Given the description of an element on the screen output the (x, y) to click on. 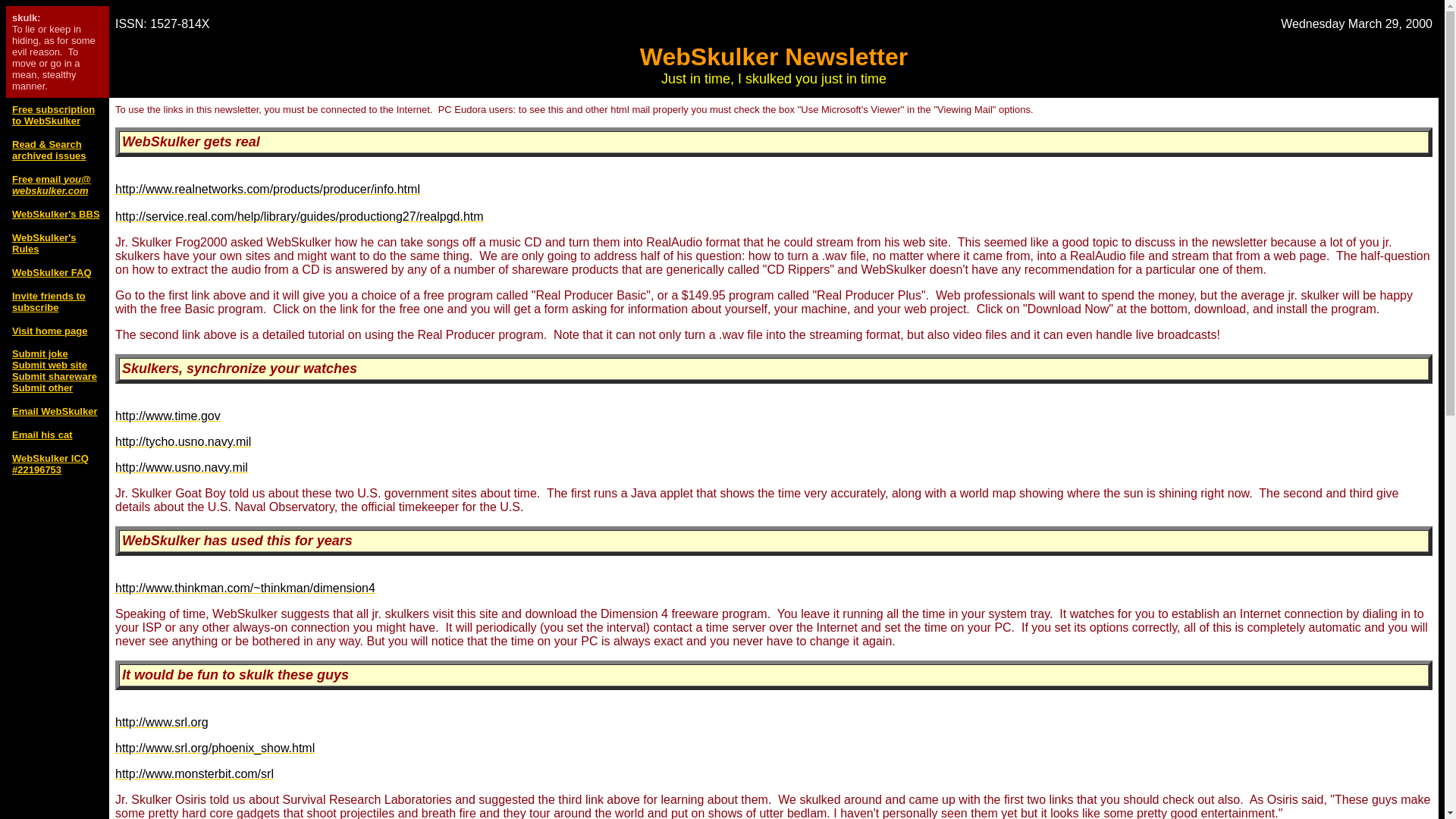
Email WebSkulker (54, 410)
Submit other (41, 387)
Submit shareware (54, 376)
Submit joke (39, 353)
Submit web site (49, 365)
WebSkulker's Rules (44, 242)
WebSkulker FAQ (51, 272)
Invite friends to subscribe (48, 301)
Free subscription to WebSkulker (52, 115)
Email his cat (41, 434)
